Given the description of an element on the screen output the (x, y) to click on. 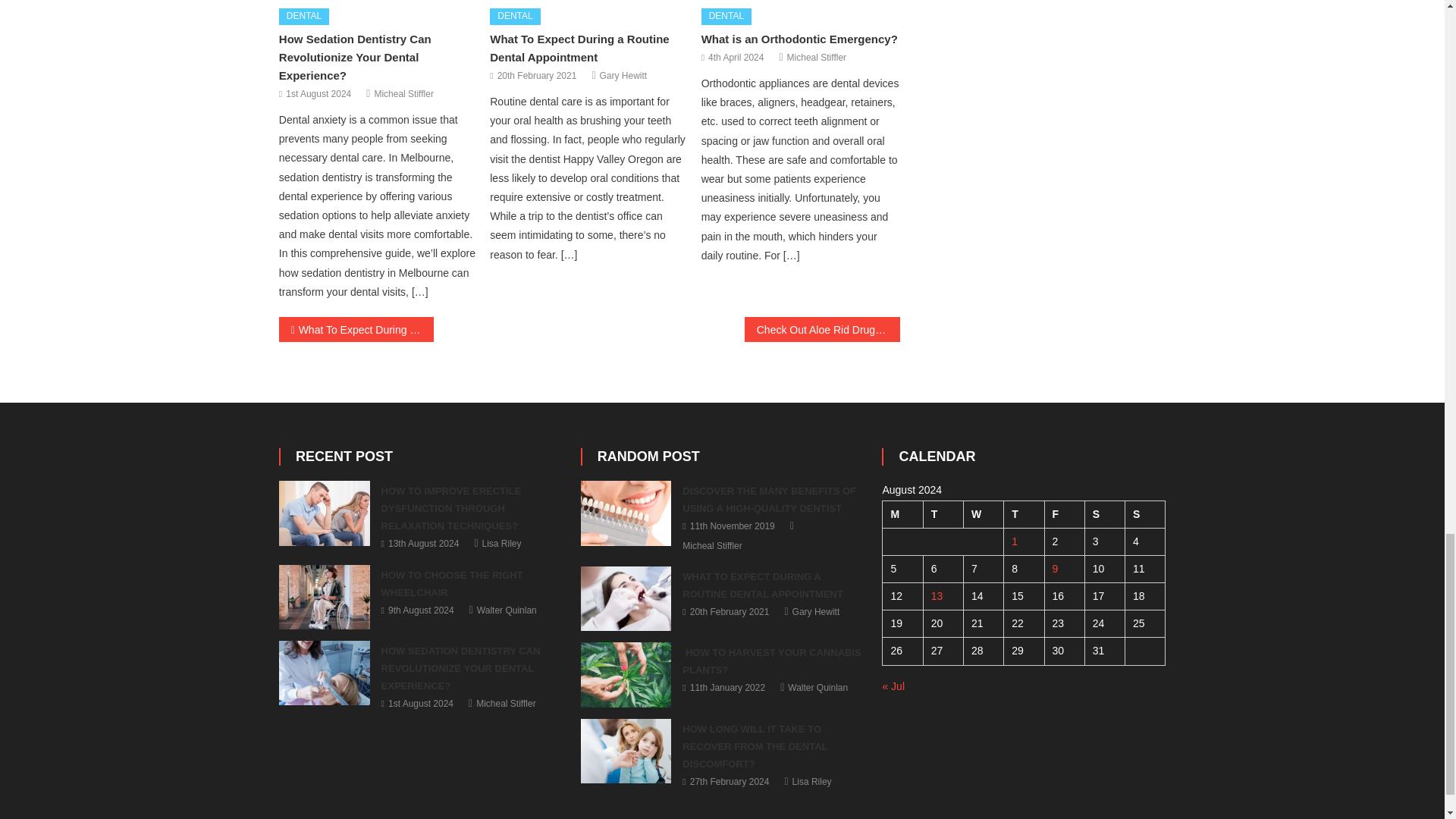
Wednesday (982, 513)
What To Expect During a Routine Dental Appointment (578, 47)
What is an Orthodontic Emergency? (799, 38)
Micheal Stiffler (403, 94)
20th February 2021 (536, 76)
Tuesday (942, 513)
Gary Hewitt (623, 76)
1st August 2024 (317, 94)
